Given the description of an element on the screen output the (x, y) to click on. 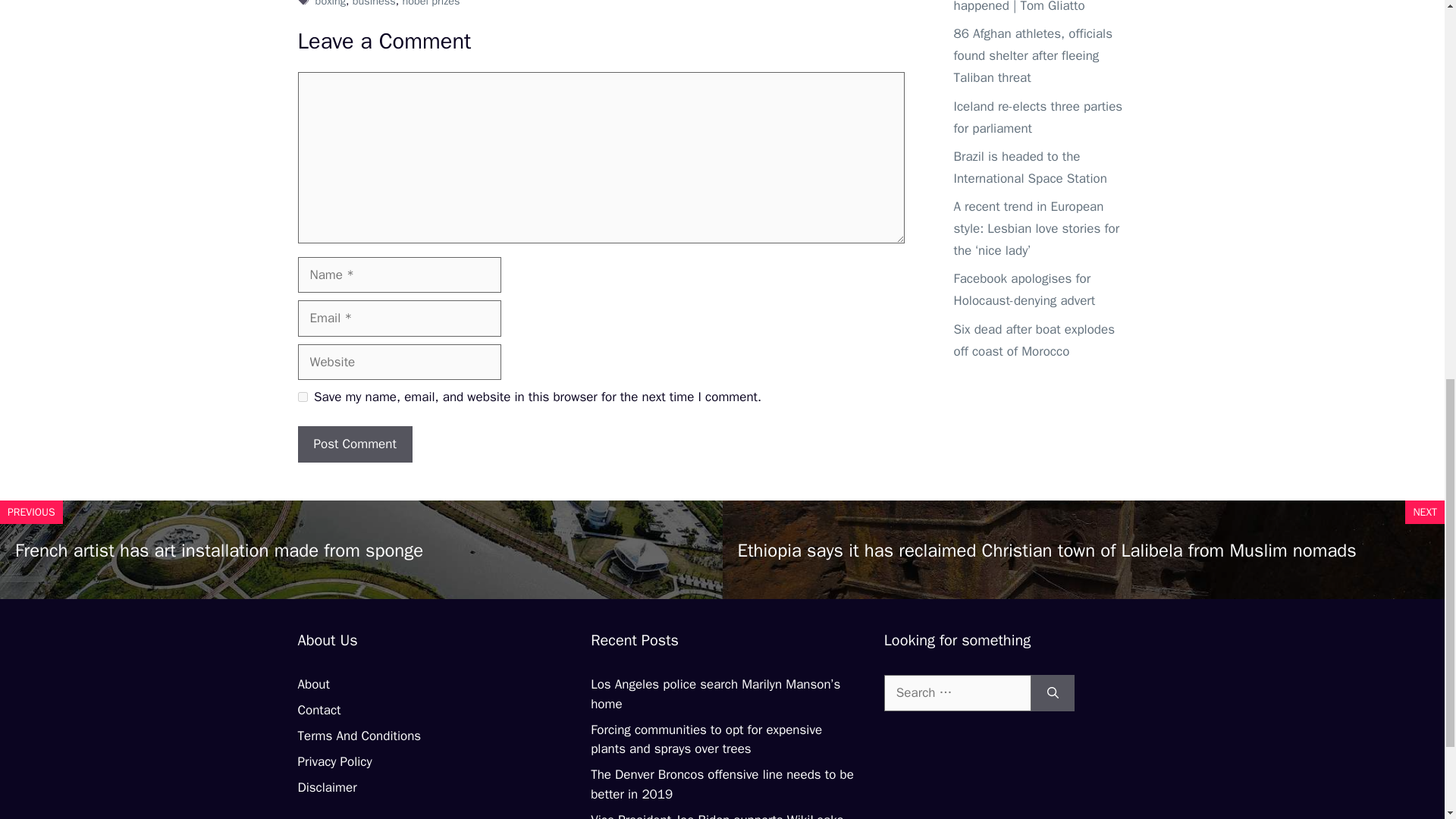
Iceland re-elects three parties for parliament (1037, 117)
business (374, 3)
About (313, 684)
Brazil is headed to the International Space Station (1029, 167)
nobel prizes (430, 3)
Terms And Conditions (358, 735)
boxing (330, 3)
Search for: (956, 692)
Post Comment (354, 443)
yes (302, 397)
